Given the description of an element on the screen output the (x, y) to click on. 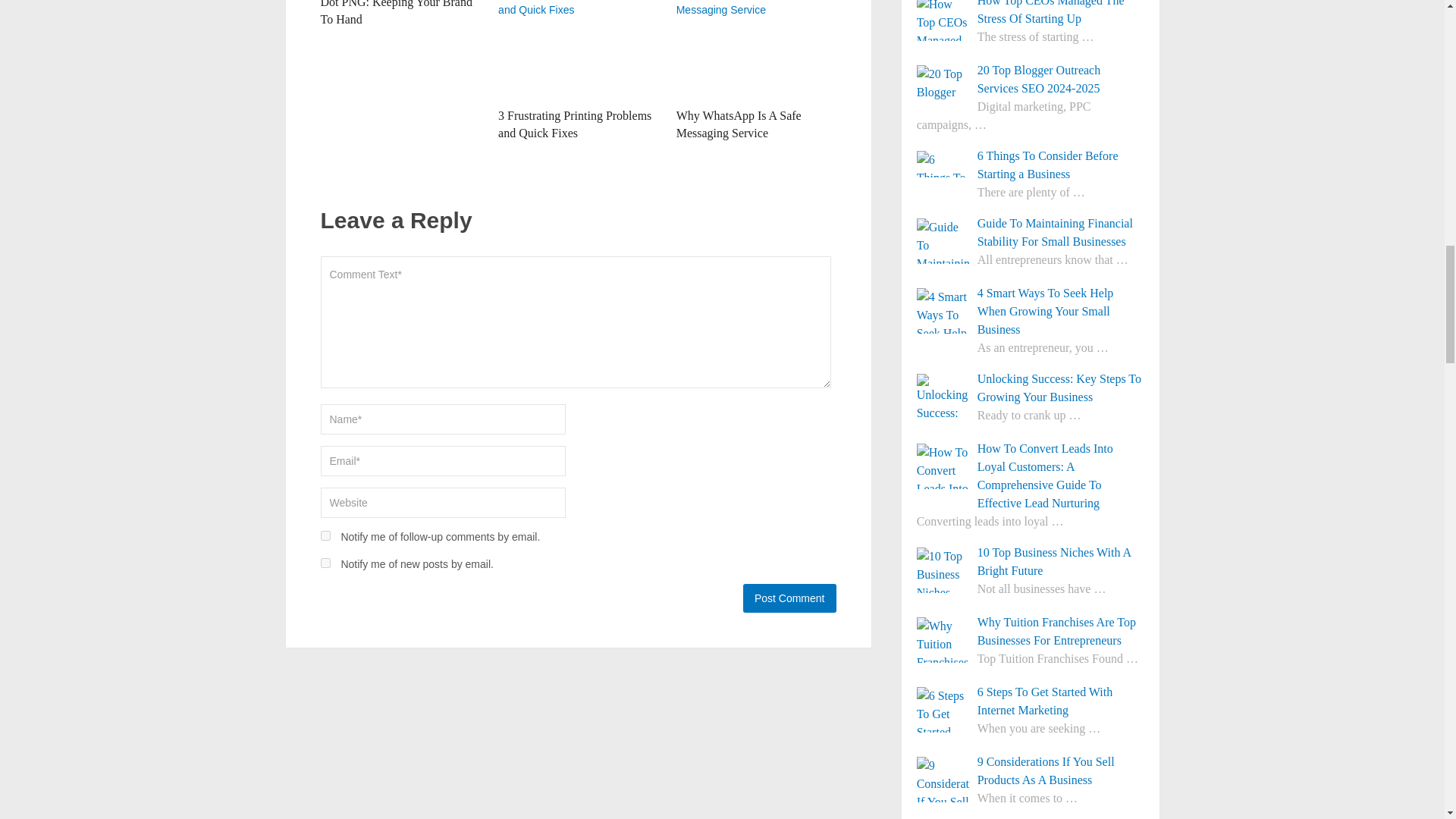
subscribe (325, 562)
Why WhatsApp Is A Safe Messaging Service (756, 49)
3 Frustrating Printing Problems and Quick Fixes (573, 123)
3 Frustrating Printing Problems and Quick Fixes (573, 123)
Post Comment (788, 597)
Post Comment (788, 597)
subscribe (325, 535)
Dot PNG: Keeping Your Brand To Hand (395, 12)
Why WhatsApp Is A Safe Messaging Service (739, 123)
3 Frustrating Printing Problems and Quick Fixes (577, 49)
